Given the description of an element on the screen output the (x, y) to click on. 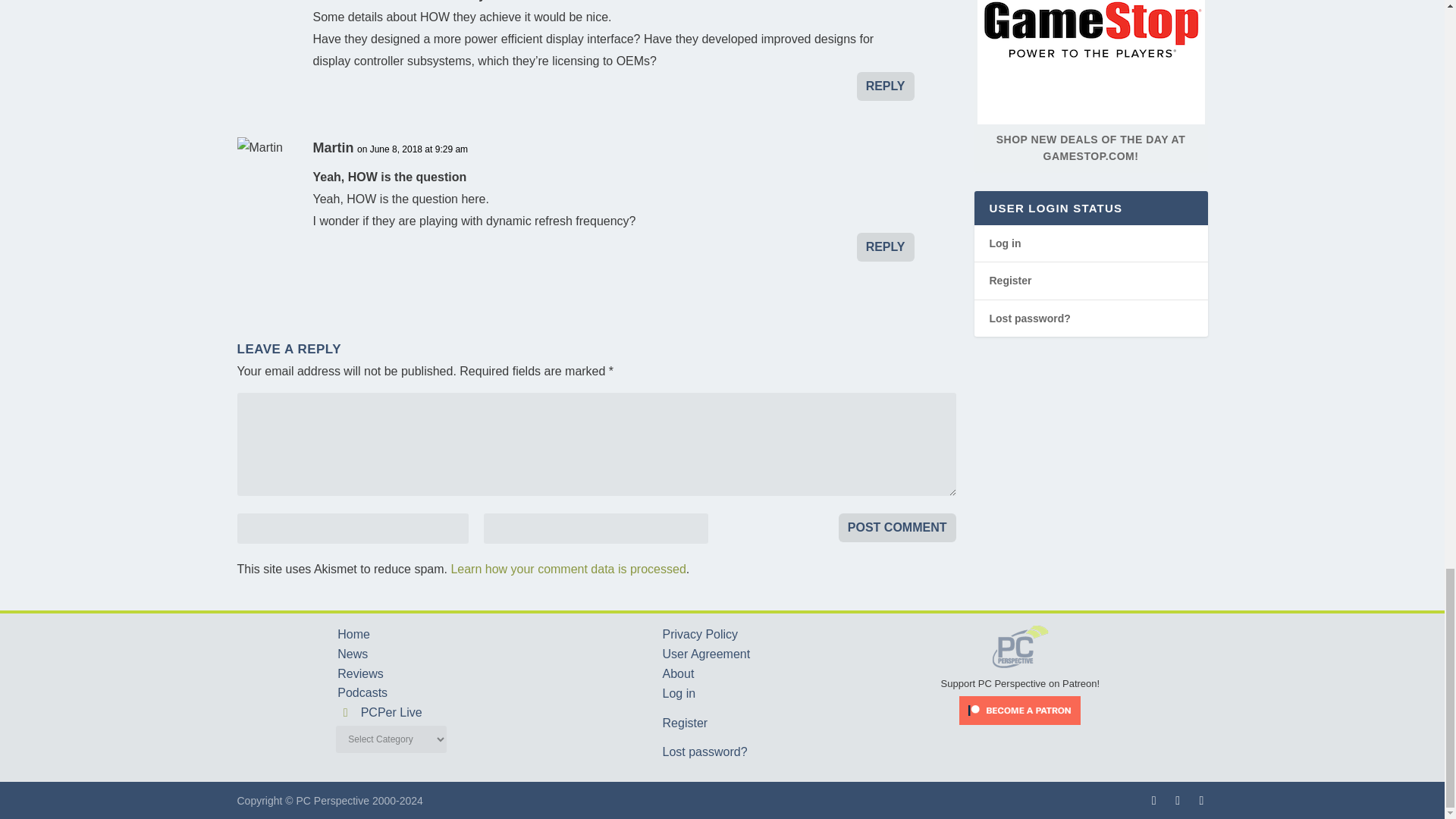
Support PC Perspective on Patreon! (1020, 676)
Post Comment (897, 527)
